Given the description of an element on the screen output the (x, y) to click on. 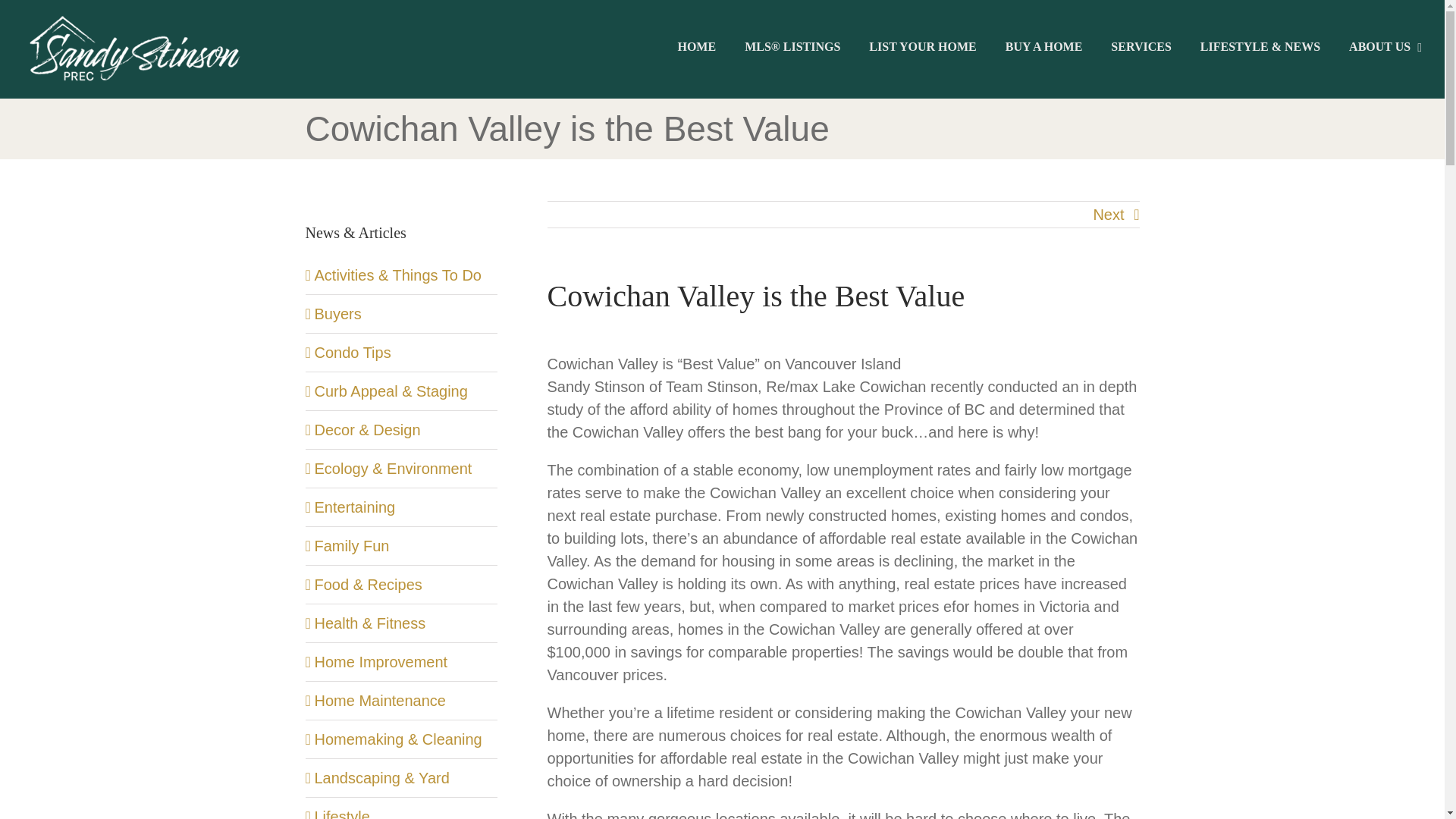
Entertaining (401, 507)
Next (1108, 214)
Condo Tips (401, 352)
LIST YOUR HOME (922, 46)
Lifestyle (401, 812)
Home Improvement (401, 661)
BUY A HOME (1044, 46)
Family Fun (401, 545)
Buyers (401, 313)
Home Maintenance (401, 700)
